Given the description of an element on the screen output the (x, y) to click on. 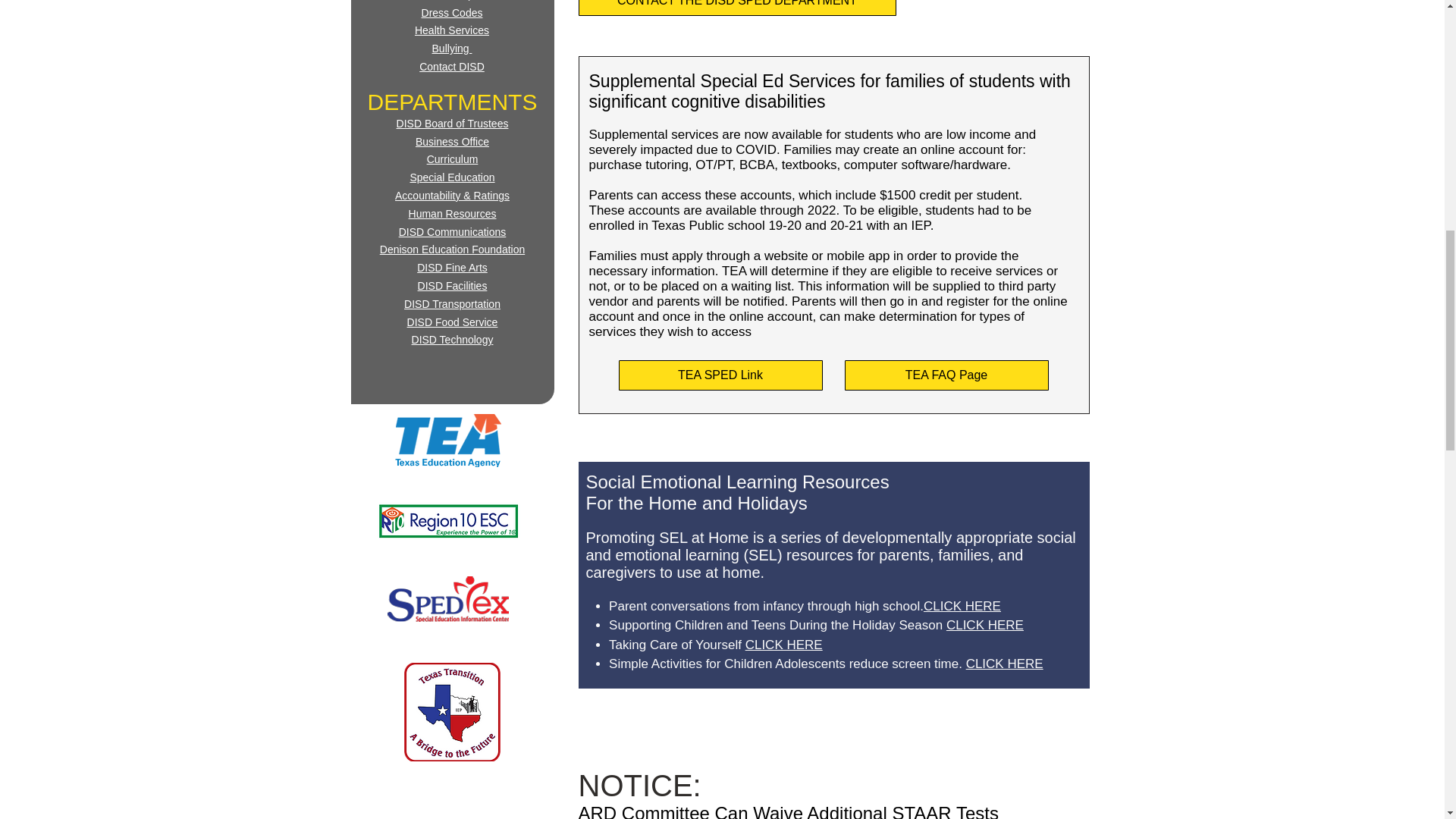
tea-logo-header-2.png (447, 440)
SPEDTex-logos5-1at60.png (447, 598)
screenshot-www.region10.org-2017-09-01-09-03-56.png (446, 521)
